Given the description of an element on the screen output the (x, y) to click on. 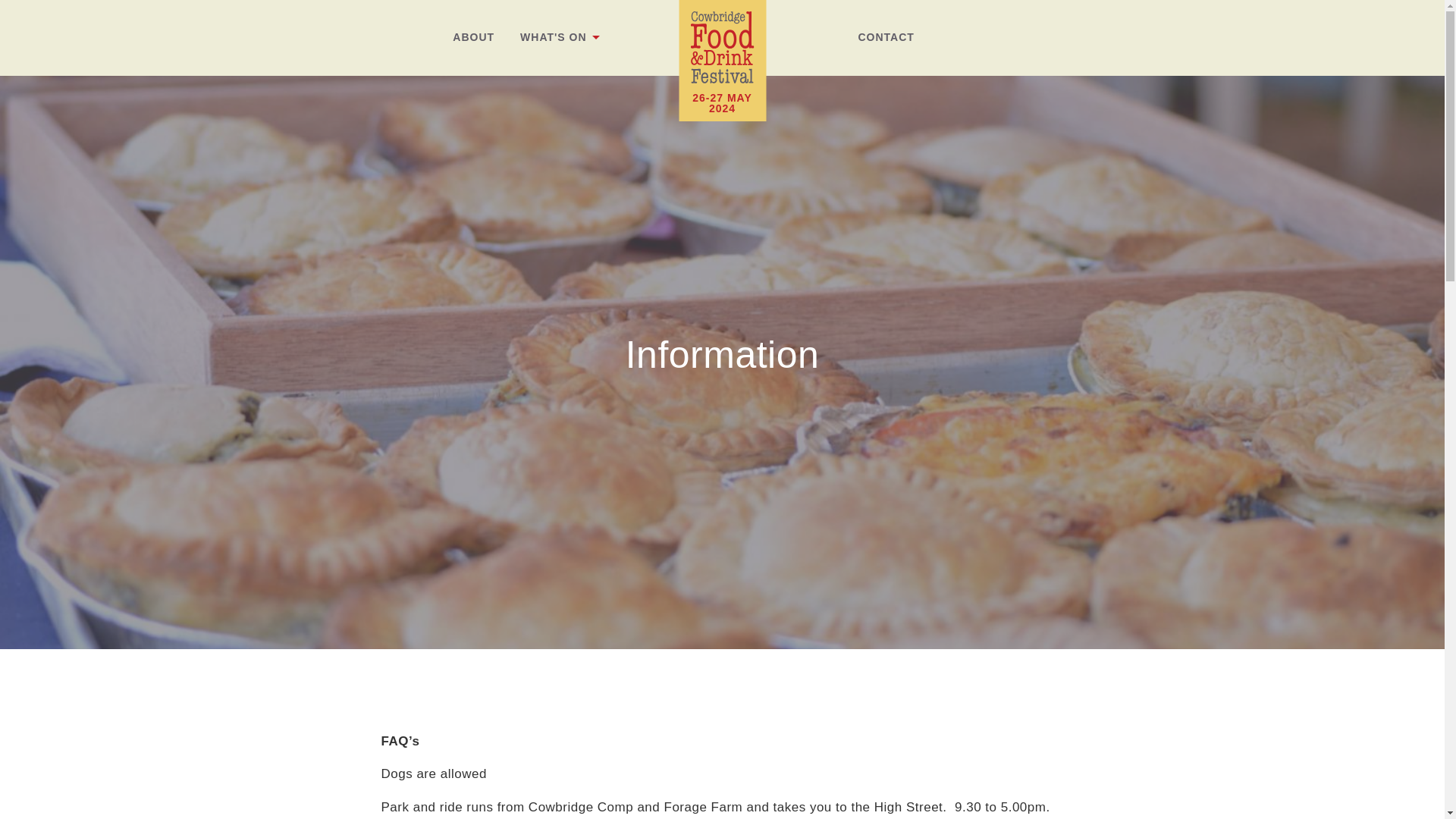
WHAT'S ON (553, 37)
ABOUT (473, 37)
CONTACT (885, 37)
